Given the description of an element on the screen output the (x, y) to click on. 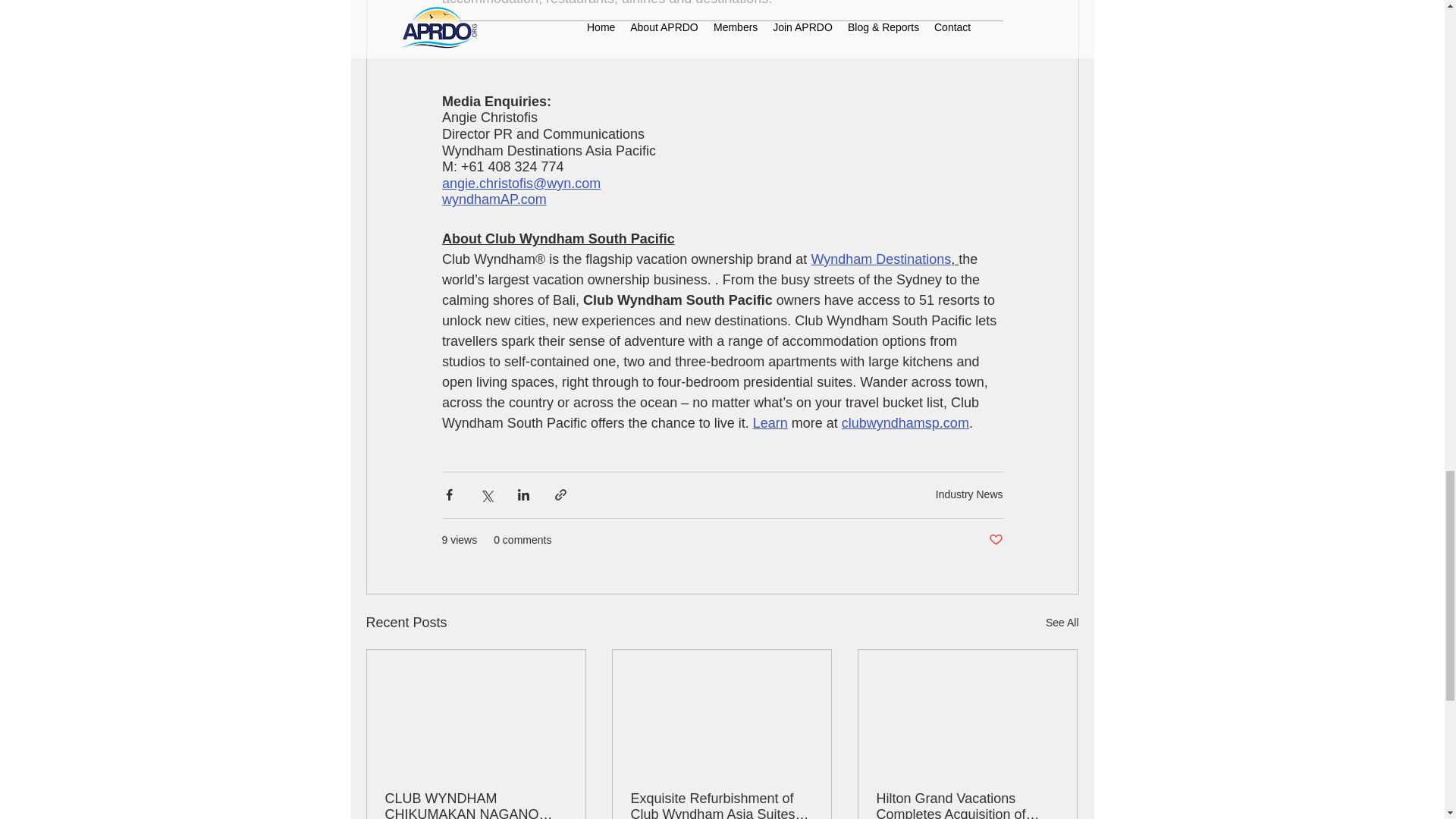
wyndhamAP.com (493, 199)
Post not marked as liked (995, 539)
clubwyndhamsp.com (904, 422)
Learn (769, 422)
See All (1061, 622)
Industry News (969, 494)
Wyndham Destinations (880, 258)
